Given the description of an element on the screen output the (x, y) to click on. 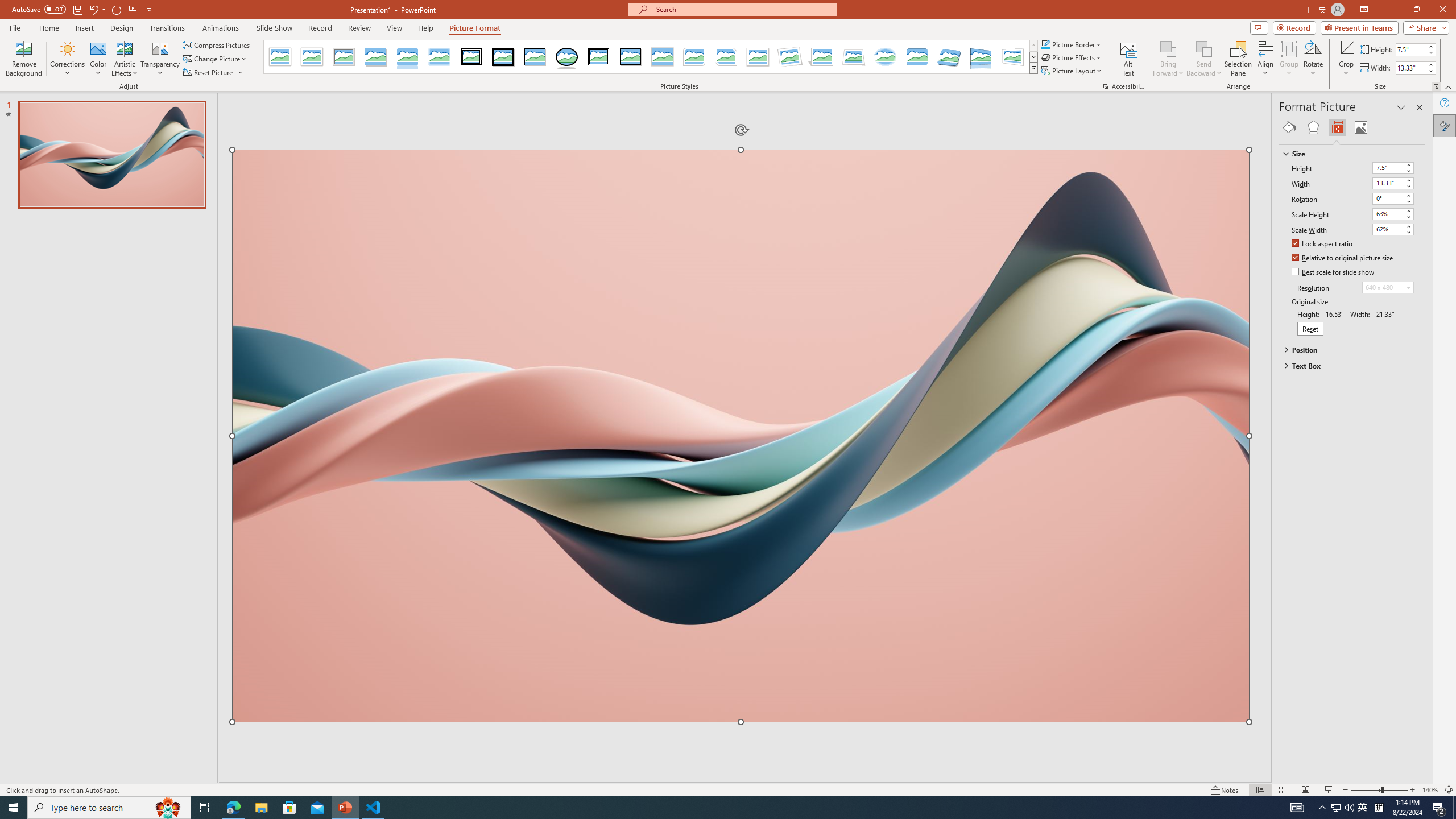
Size (1347, 153)
